Given the description of an element on the screen output the (x, y) to click on. 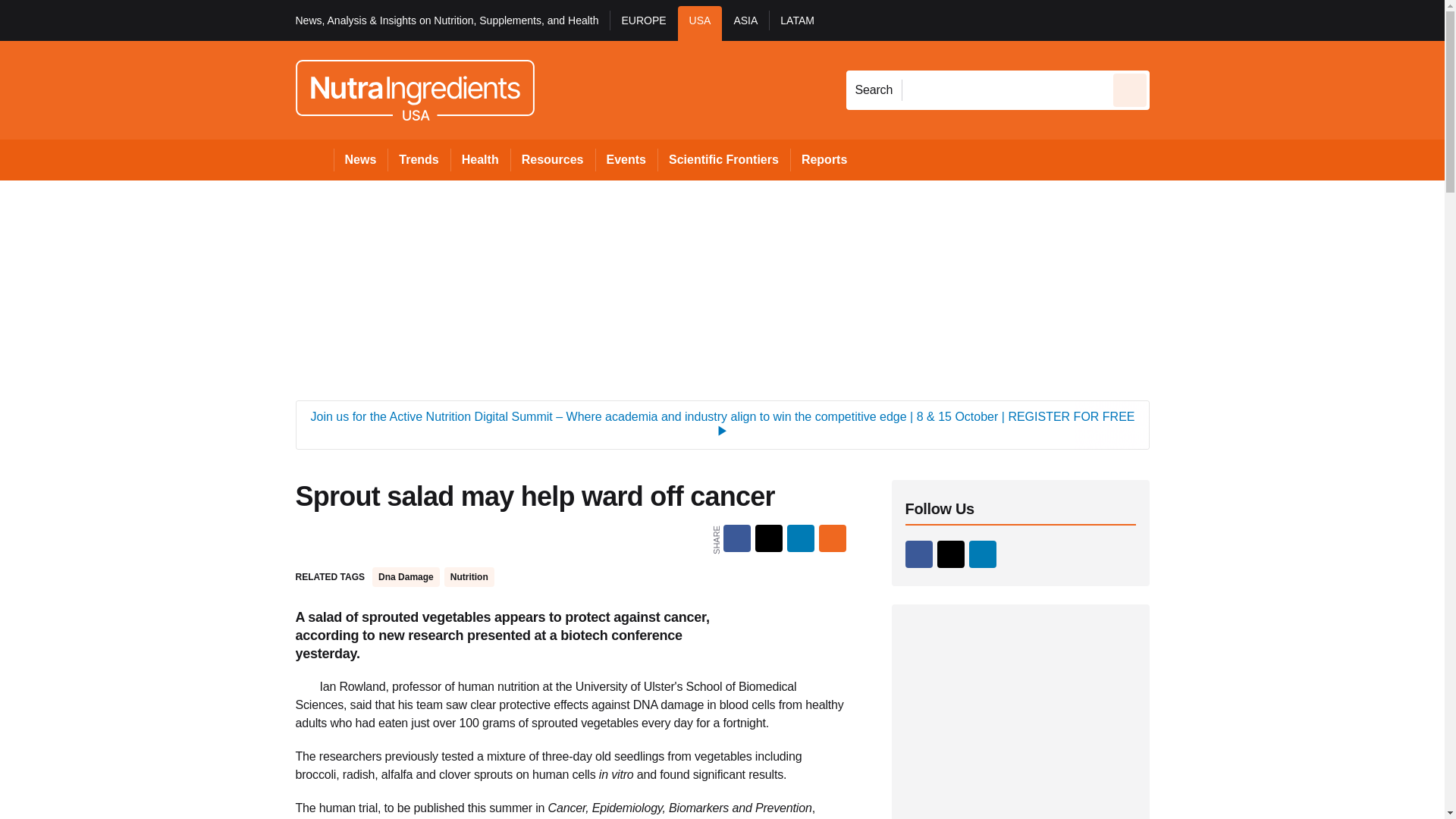
LATAM (796, 22)
News (360, 159)
USA (700, 22)
SUBSCRIBE (1318, 20)
ASIA (745, 22)
Register (1231, 20)
SUBSCRIBE (1362, 20)
Sign out (1174, 20)
EUROPE (643, 22)
Sign in (1171, 20)
